Given the description of an element on the screen output the (x, y) to click on. 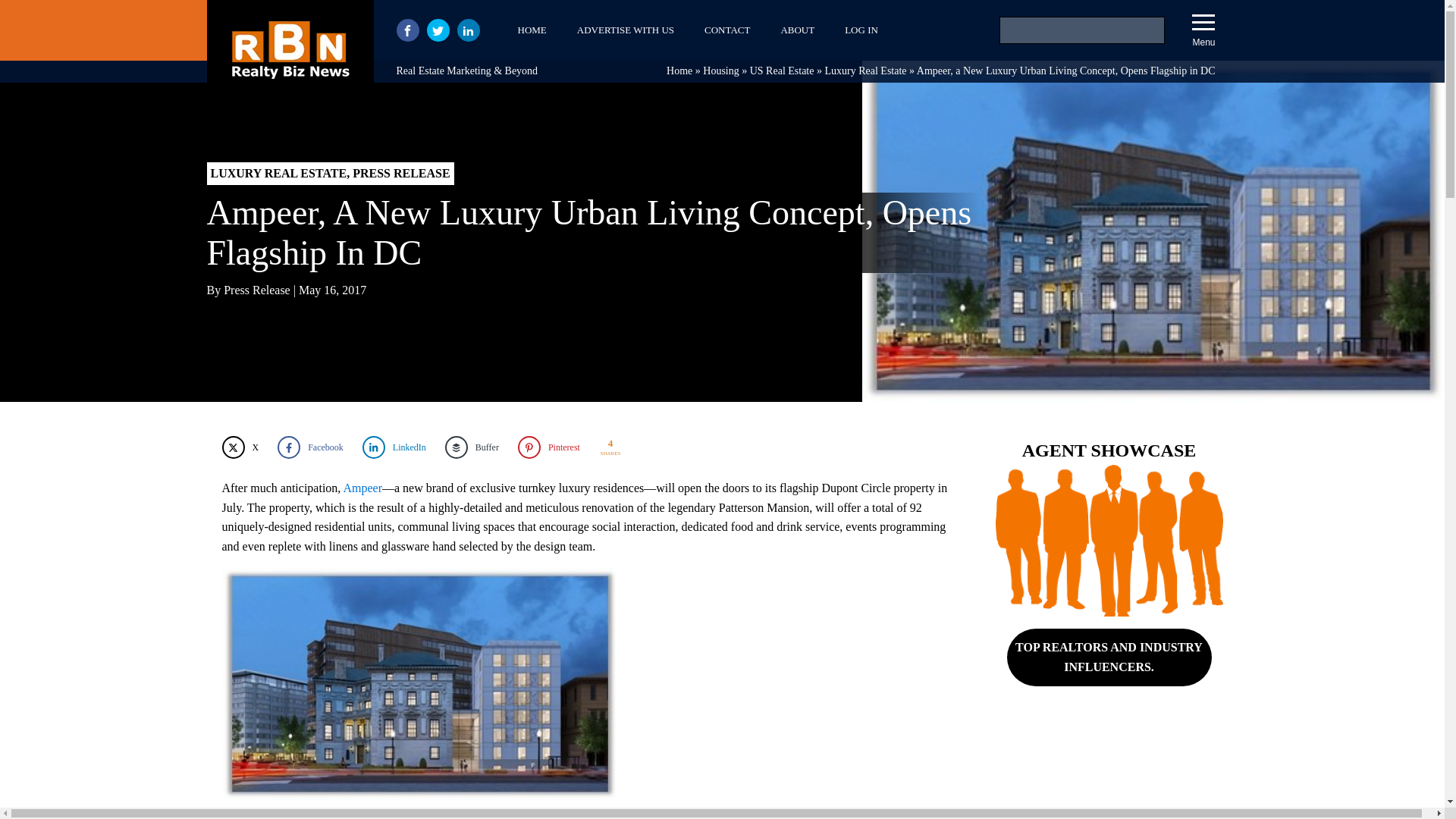
Housing (720, 70)
Advertisement (1108, 773)
Luxury Real Estate (864, 70)
US Real Estate (781, 70)
US Real Estate (781, 70)
LOG IN (861, 30)
ADVERTISE WITH US (625, 30)
Luxury Real Estate (864, 70)
ABOUT (797, 30)
Housing (720, 70)
